Given the description of an element on the screen output the (x, y) to click on. 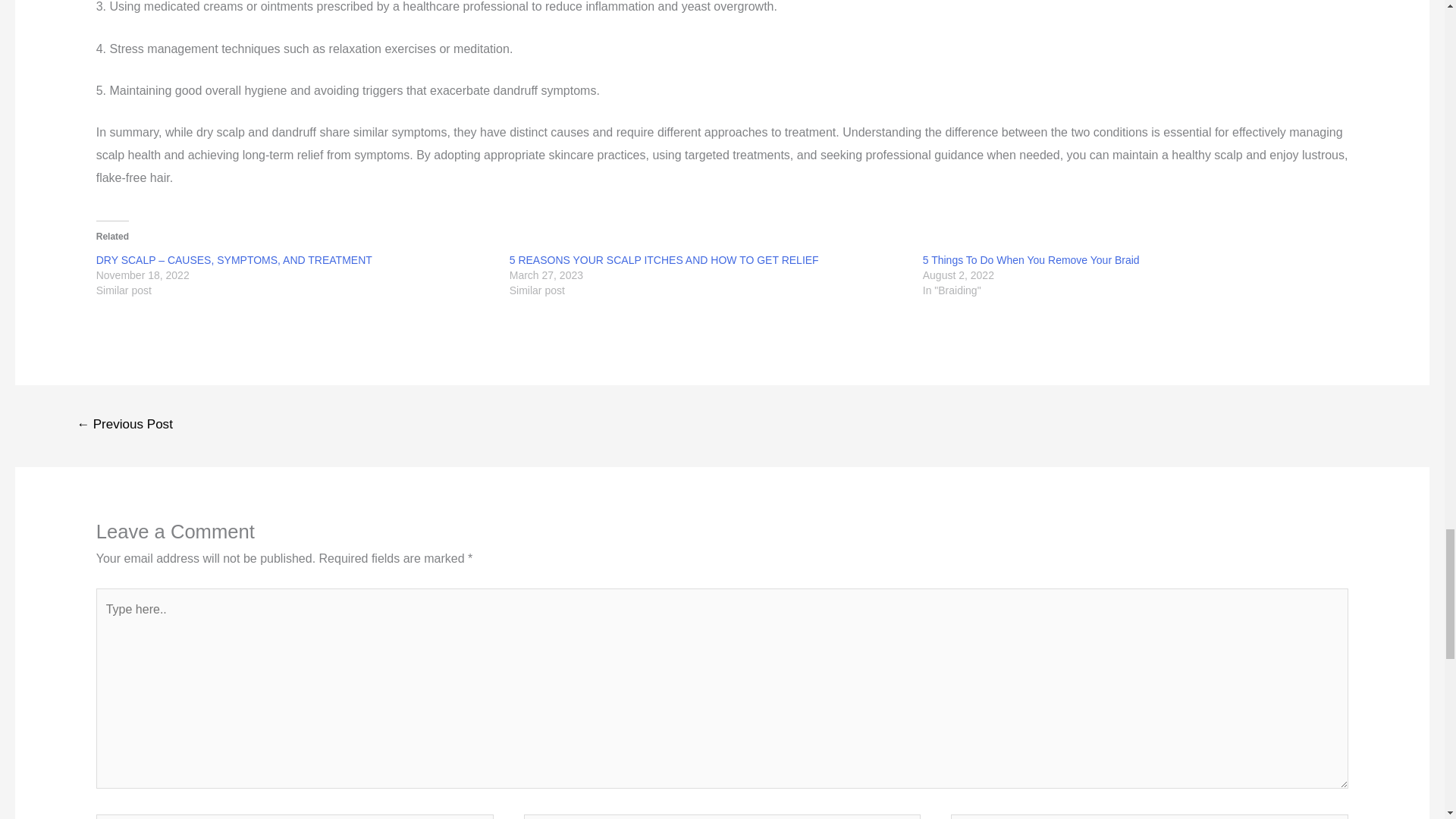
5 Things To Do When You Remove Your Braid (1031, 259)
5 Things To Do When You Remove Your Braid (1031, 259)
5 REASONS YOUR SCALP ITCHES AND HOW TO GET RELIEF (663, 259)
5 REASONS YOUR SCALP ITCHES AND HOW TO GET RELIEF (663, 259)
